Given the description of an element on the screen output the (x, y) to click on. 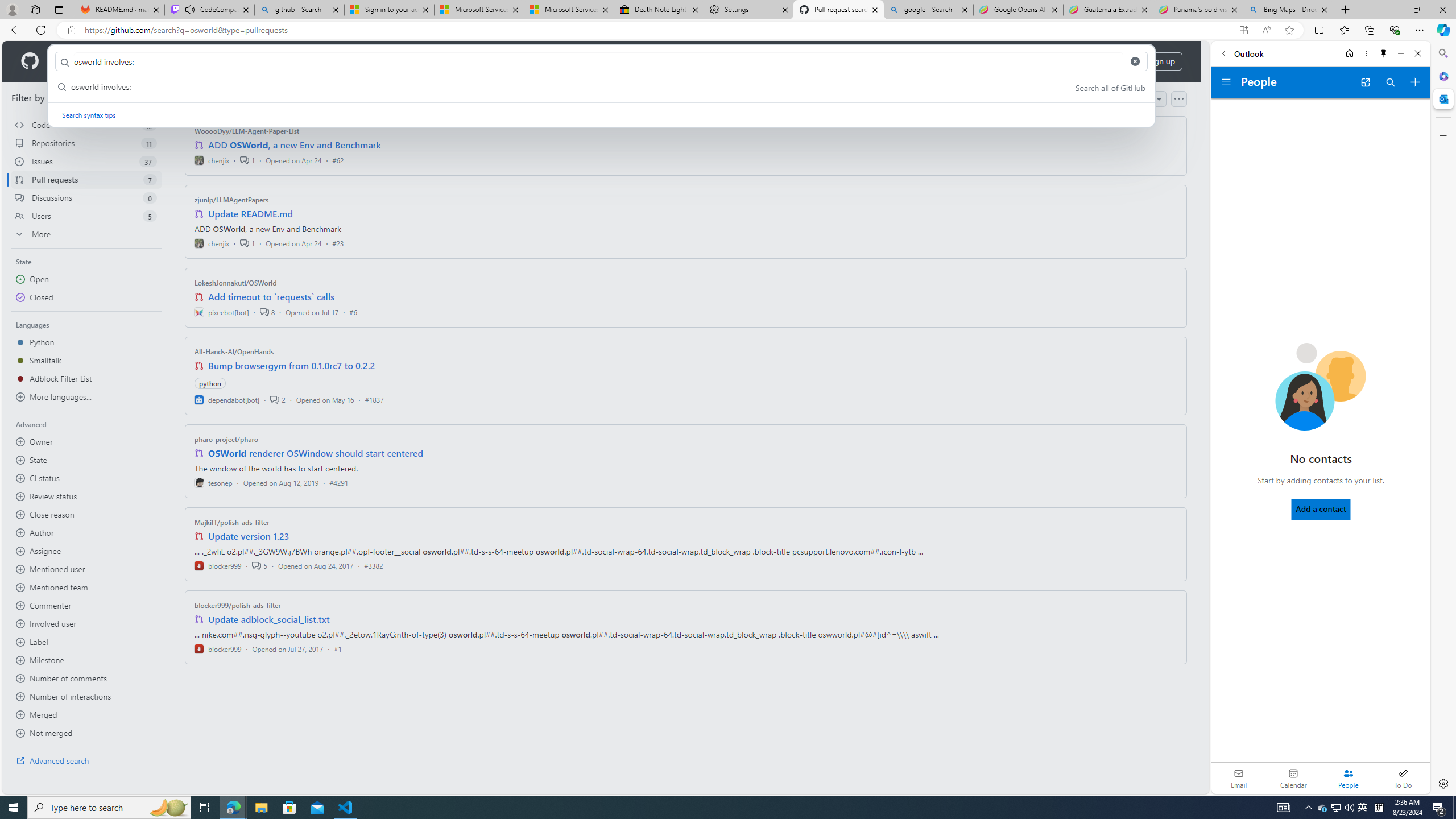
More languages... (86, 397)
Folder navigation (1225, 82)
8 (267, 311)
pixeebot[bot] (221, 311)
Add a contact (1321, 509)
#23 (337, 242)
#4291 (338, 482)
More languages... (86, 397)
Solutions (128, 60)
App available. Install GitHub (1243, 29)
